Given the description of an element on the screen output the (x, y) to click on. 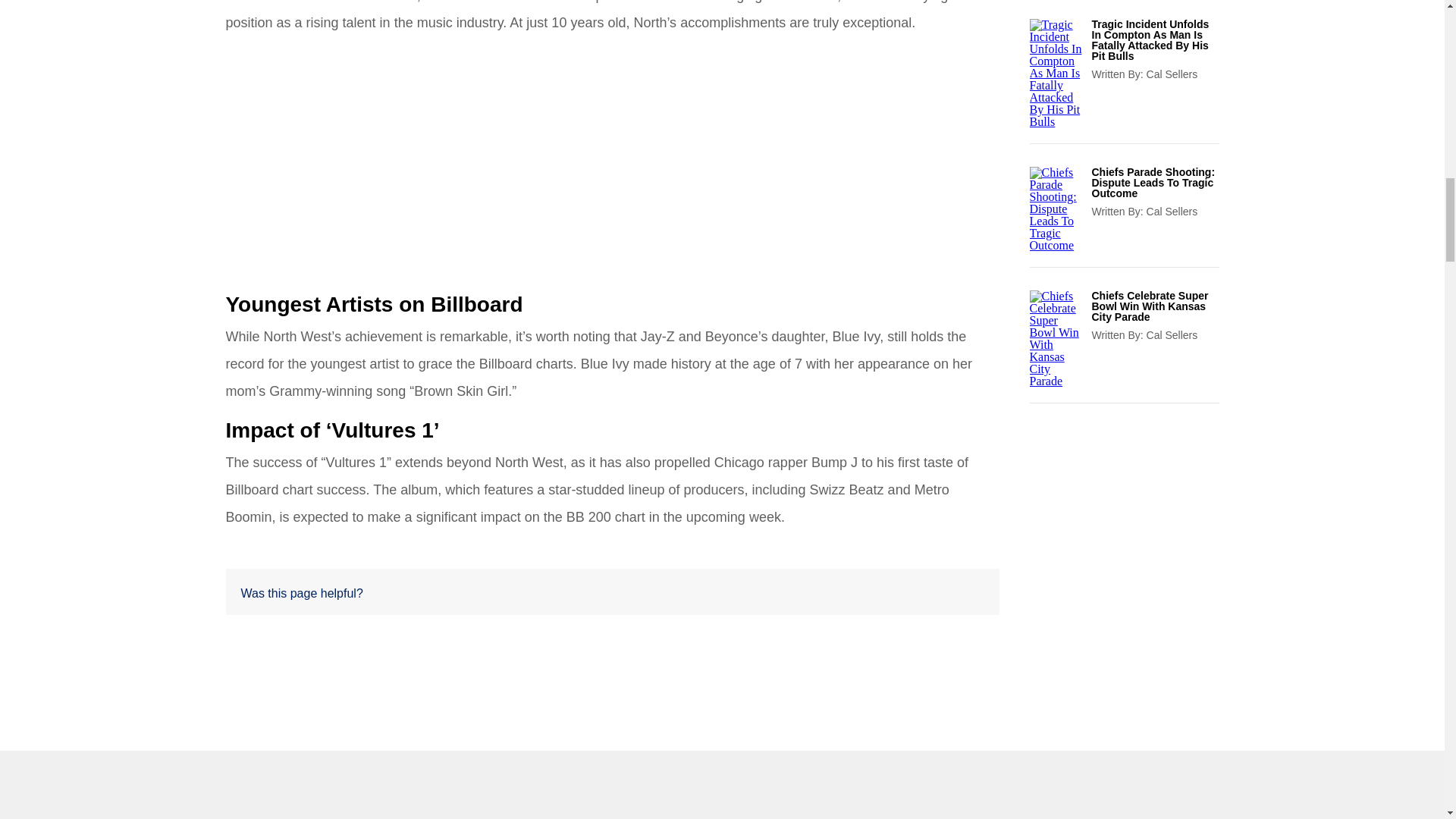
Chiefs Parade Shooting: Dispute Leads To Tragic Outcome (1156, 183)
